Given the description of an element on the screen output the (x, y) to click on. 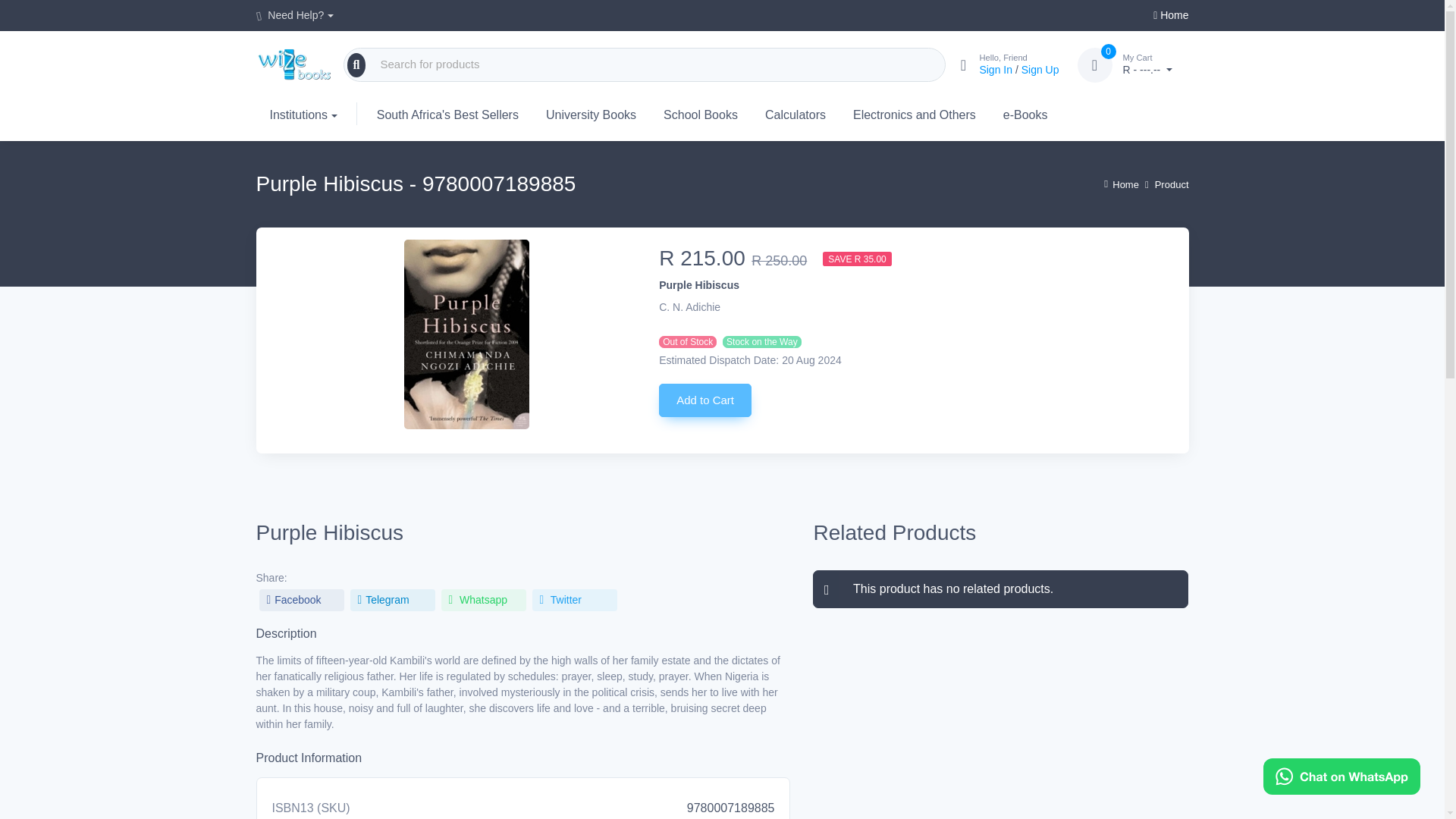
Home (1170, 15)
University Books (590, 113)
0 (1094, 63)
South Africa's Best Sellers (447, 113)
School Books (700, 113)
Need Help? (1150, 64)
Institutions (295, 15)
